Given the description of an element on the screen output the (x, y) to click on. 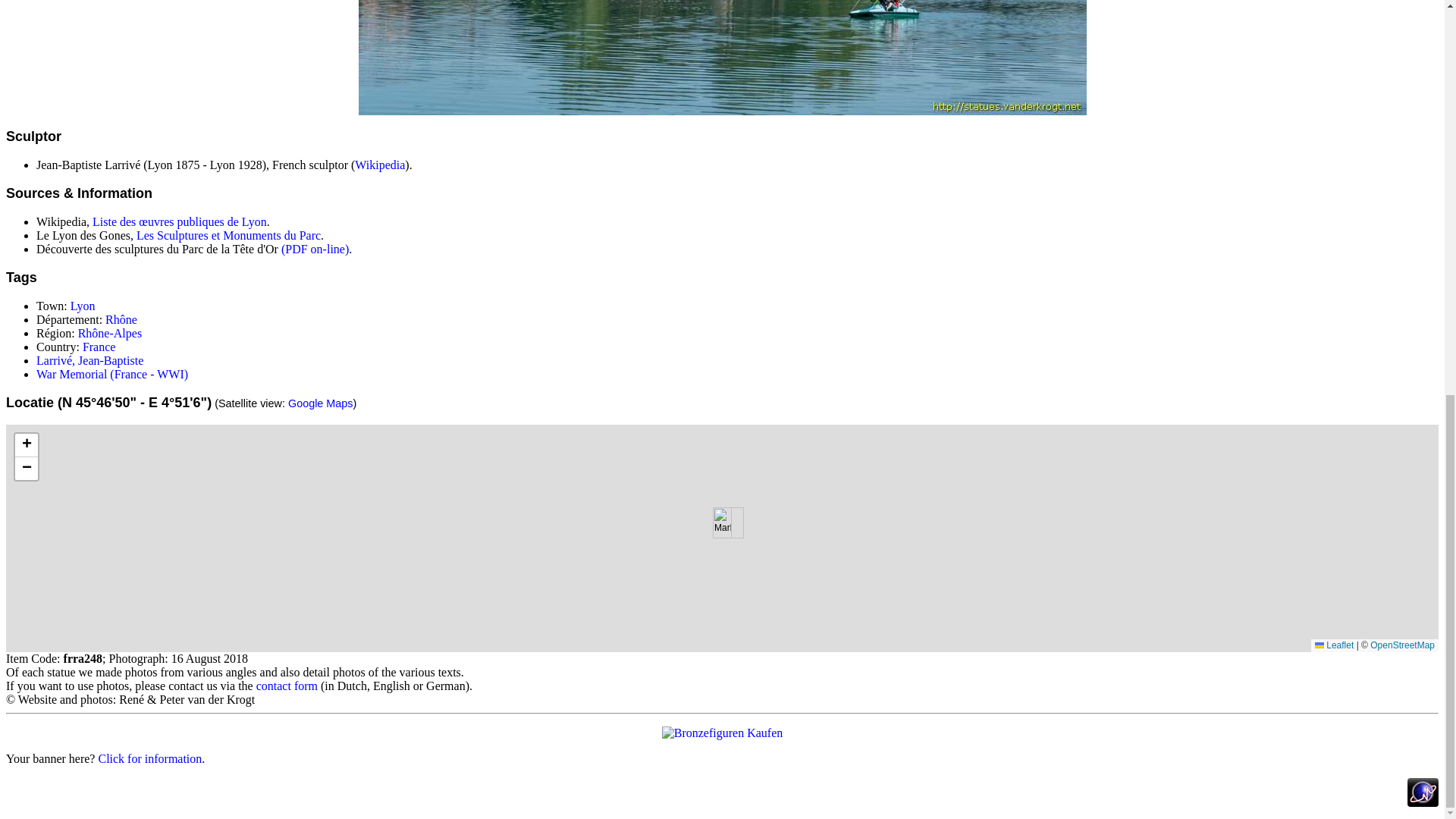
Wikipedia (379, 164)
Google Maps (320, 403)
France (99, 346)
Lyon (82, 305)
contact form (286, 685)
Zoom out (25, 468)
OpenStreetMap (1402, 644)
Les Sculptures et Monuments du Parc (228, 235)
Bronzefiguren Kaufen (722, 733)
Zoom in (25, 445)
